Given the description of an element on the screen output the (x, y) to click on. 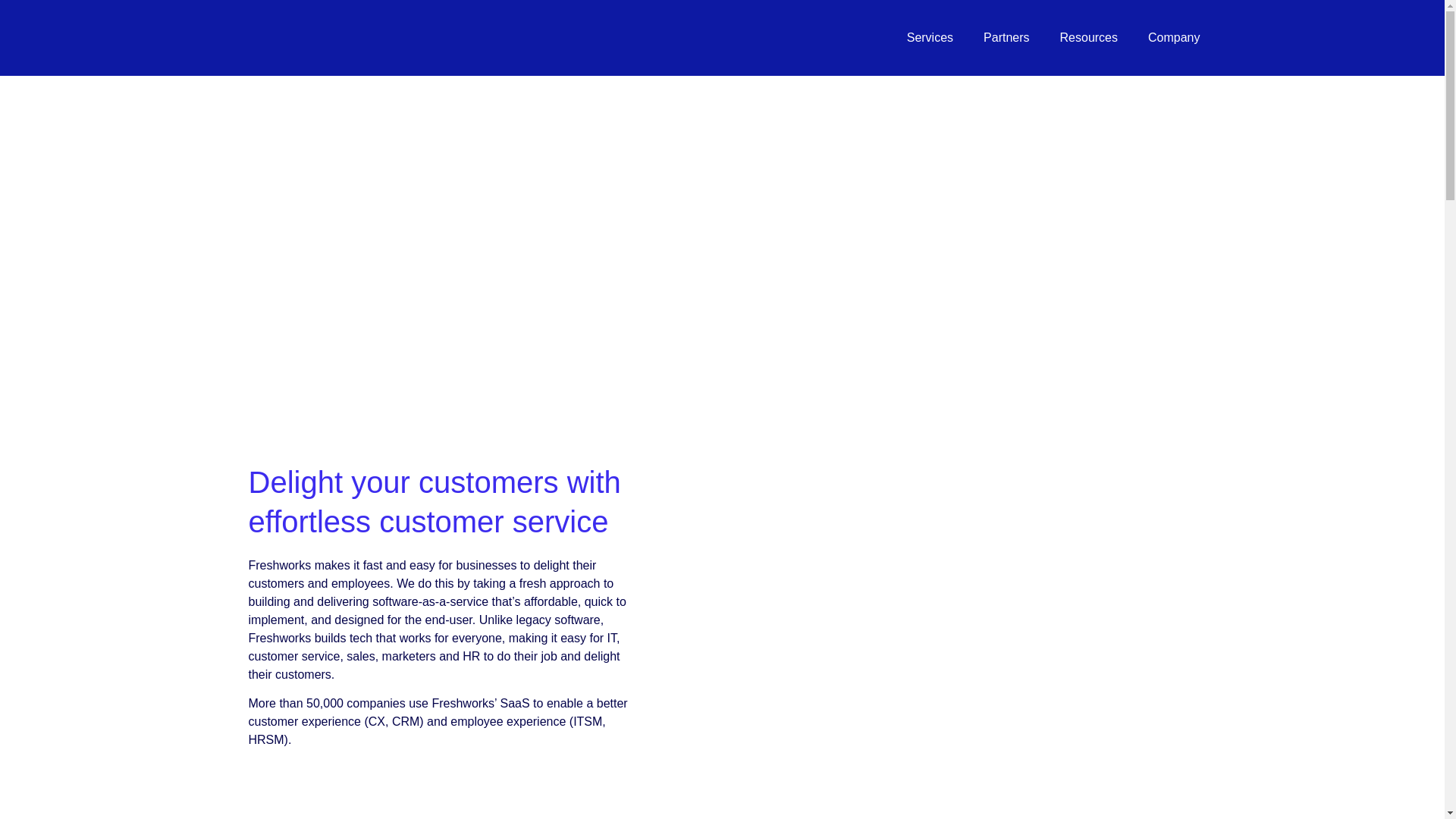
Services (929, 38)
Resources (1088, 38)
Company (1173, 38)
Partners (1005, 38)
